Given the description of an element on the screen output the (x, y) to click on. 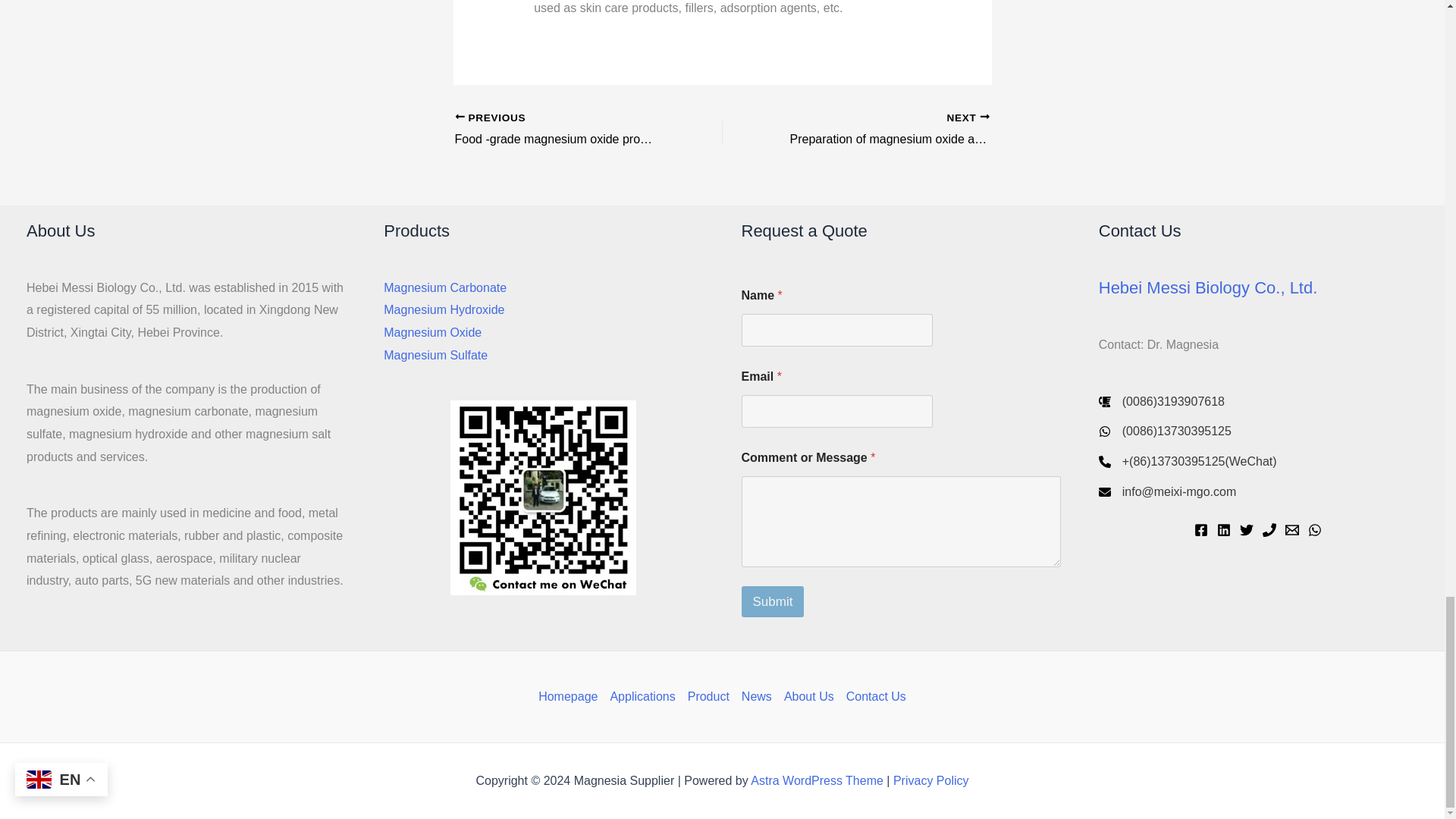
Food -grade magnesium oxide production technology (561, 129)
Preparation of magnesium oxide and study on its properties (882, 129)
